Given the description of an element on the screen output the (x, y) to click on. 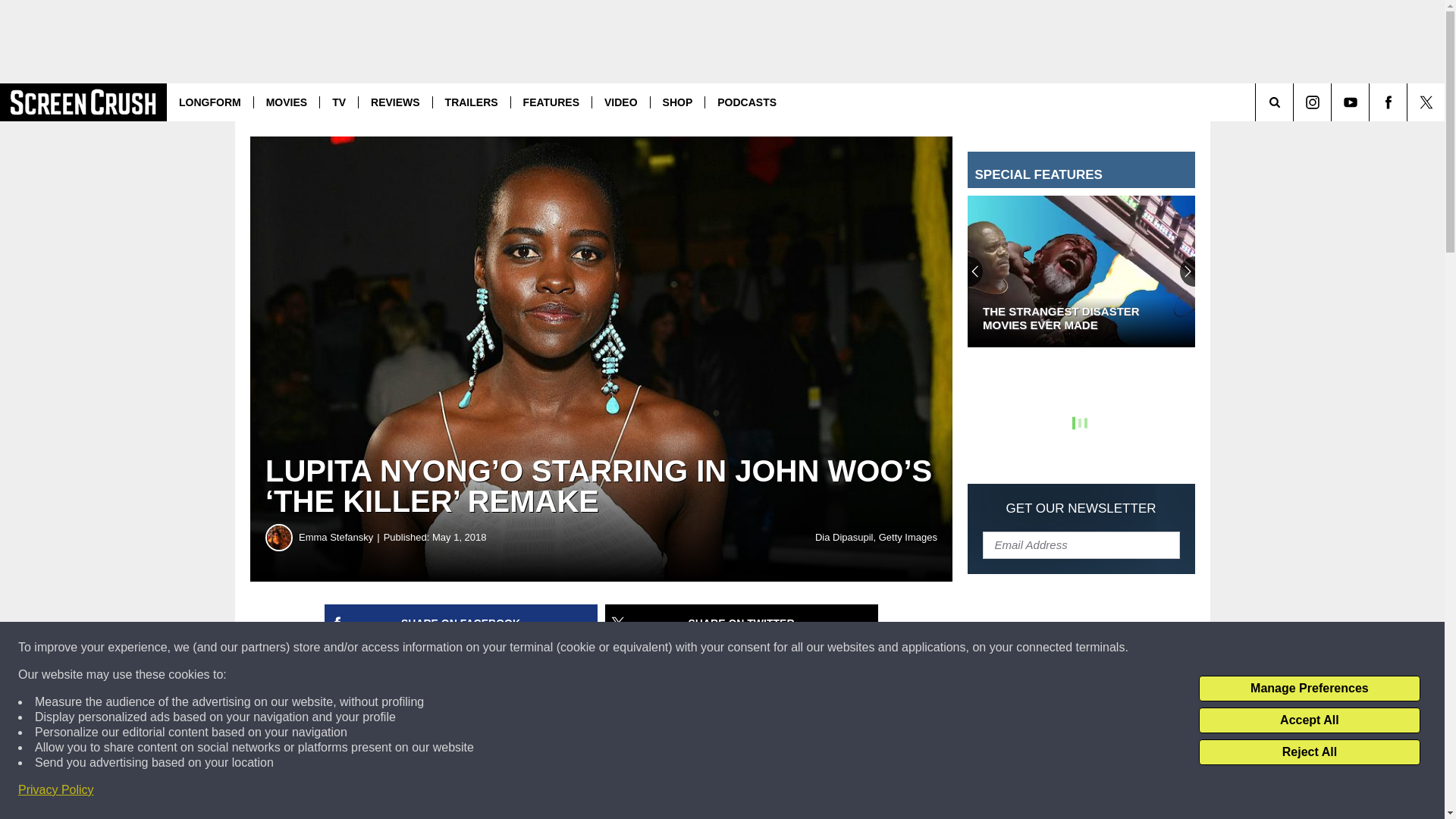
SEARCH (1295, 102)
VIDEO (620, 102)
Privacy Policy (55, 789)
LONGFORM (210, 102)
SEARCH (1295, 102)
SEARCH (1295, 102)
Emma Stefansky (278, 537)
Visit us on Youtube (1350, 102)
PODCASTS (746, 102)
FEATURES (551, 102)
Accept All (1309, 720)
Visit us on Instagram (1312, 102)
SHARE ON TWITTER (741, 623)
TRAILERS (471, 102)
Email Address (1080, 543)
